Given the description of an element on the screen output the (x, y) to click on. 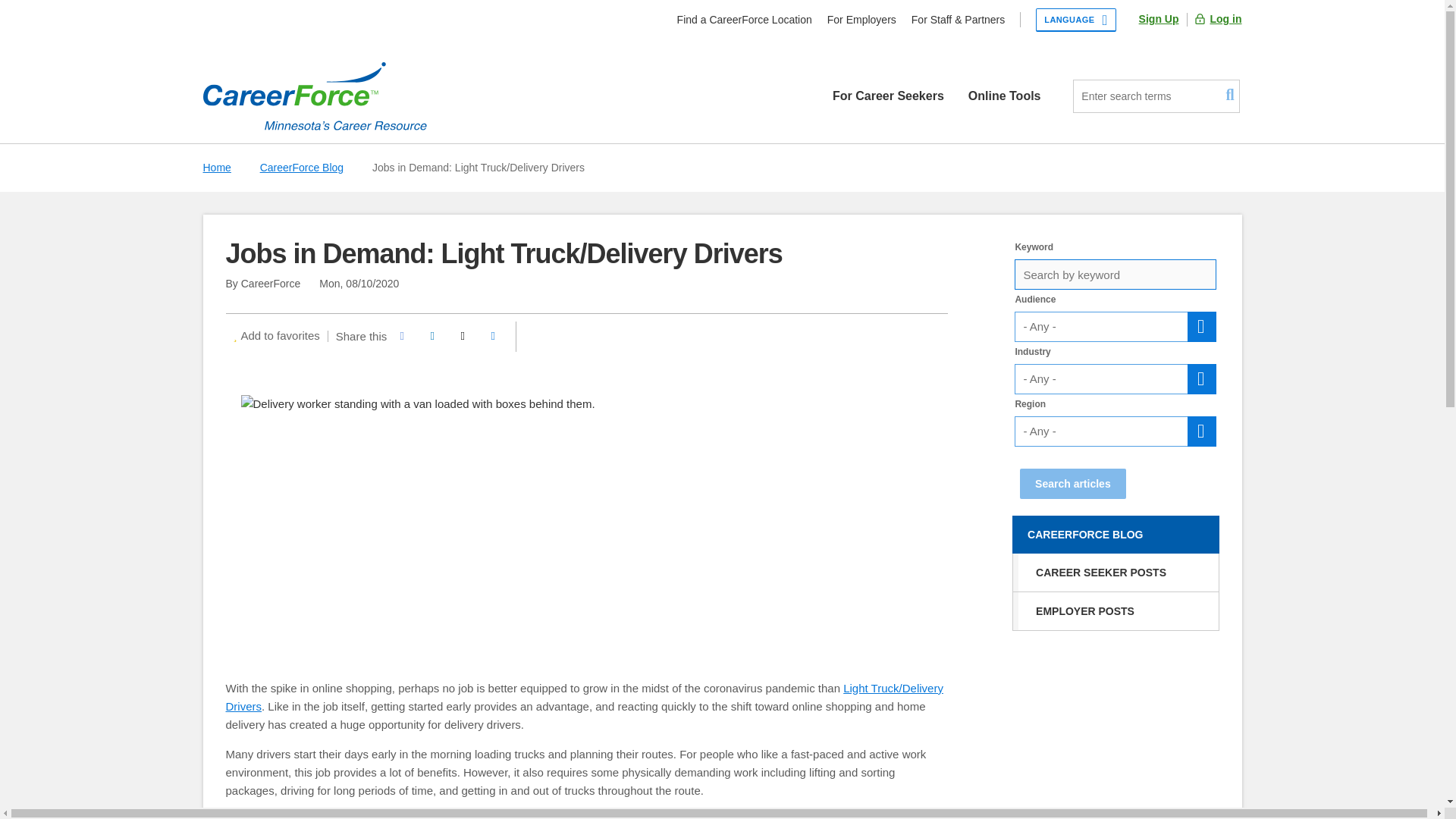
Sign Up (1158, 18)
Linkedin (431, 336)
Home (314, 96)
Home (314, 96)
CareerForce Blog - Career Seeker Posts (1115, 572)
For Employers (861, 19)
Delivery drivers (264, 816)
X (461, 336)
Add this to your favorites. (276, 335)
